Given the description of an element on the screen output the (x, y) to click on. 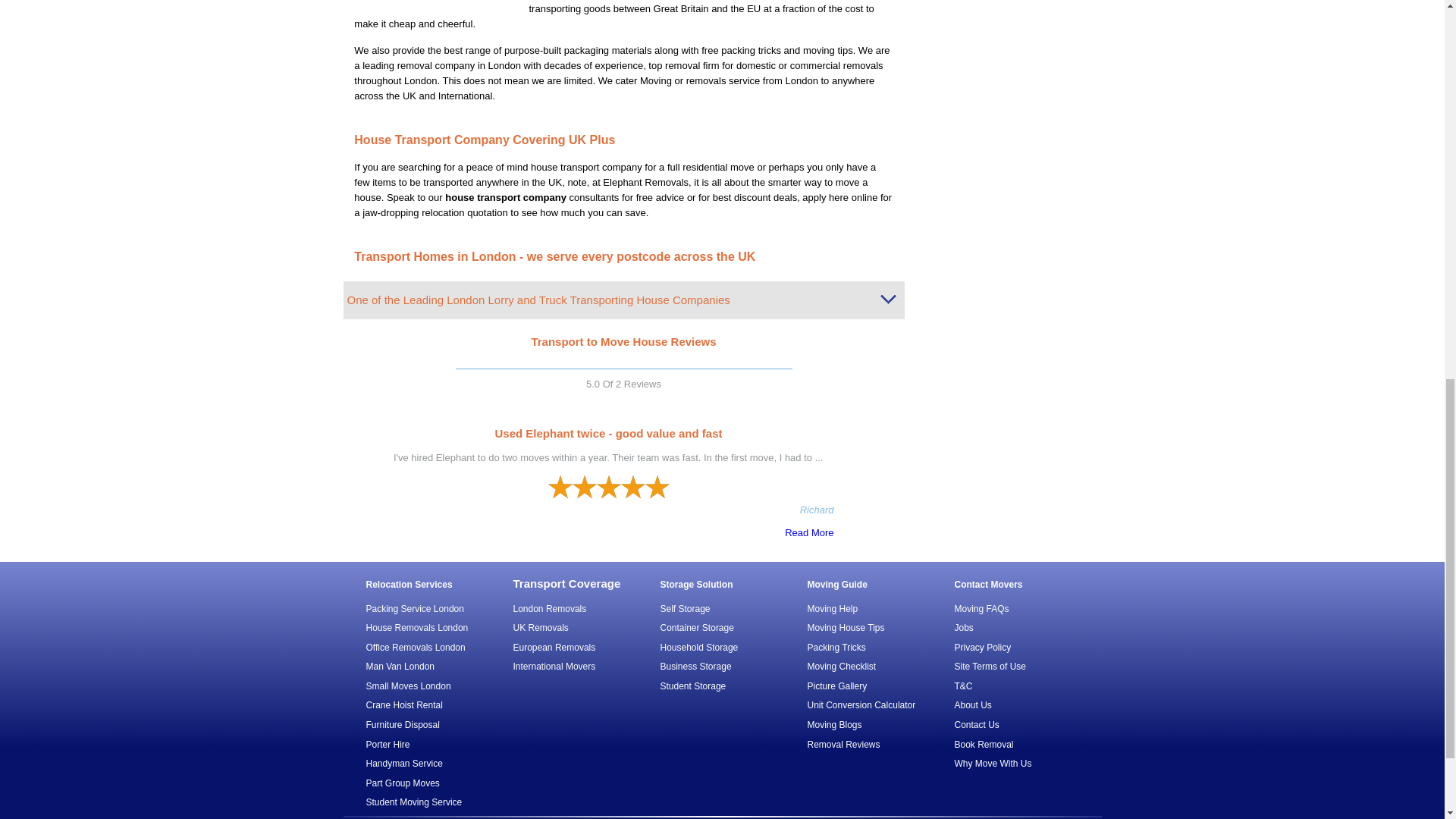
Read More (607, 532)
Read More (1131, 532)
